Given the description of an element on the screen output the (x, y) to click on. 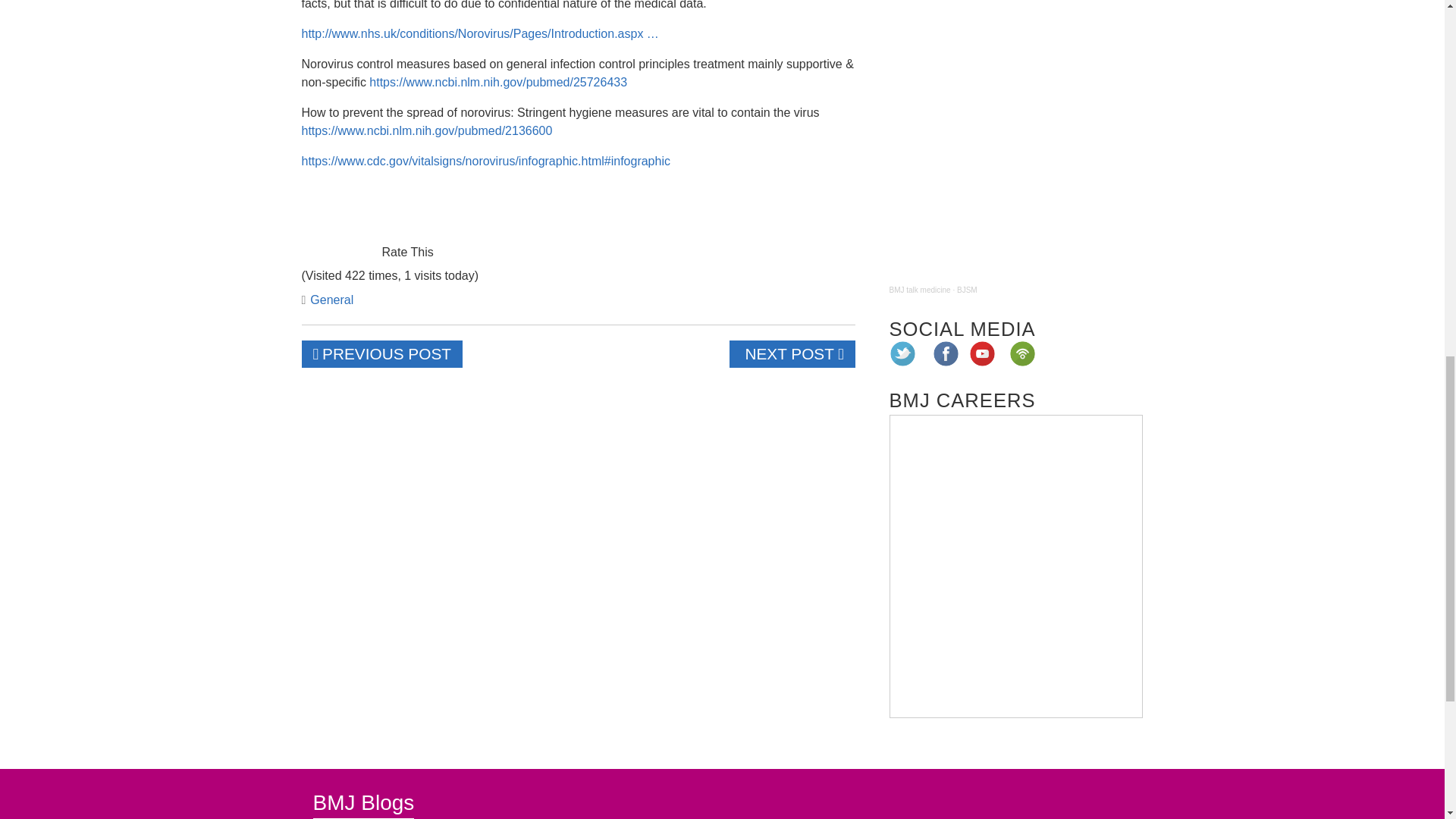
Twitter (901, 353)
PREVIOUS POST (382, 353)
General (330, 299)
BJSM (966, 289)
BJSM Podcast (1015, 139)
Facebook (946, 353)
Youtube (982, 353)
 NEXT POST (792, 353)
BMJ talk medicine (919, 289)
